Given the description of an element on the screen output the (x, y) to click on. 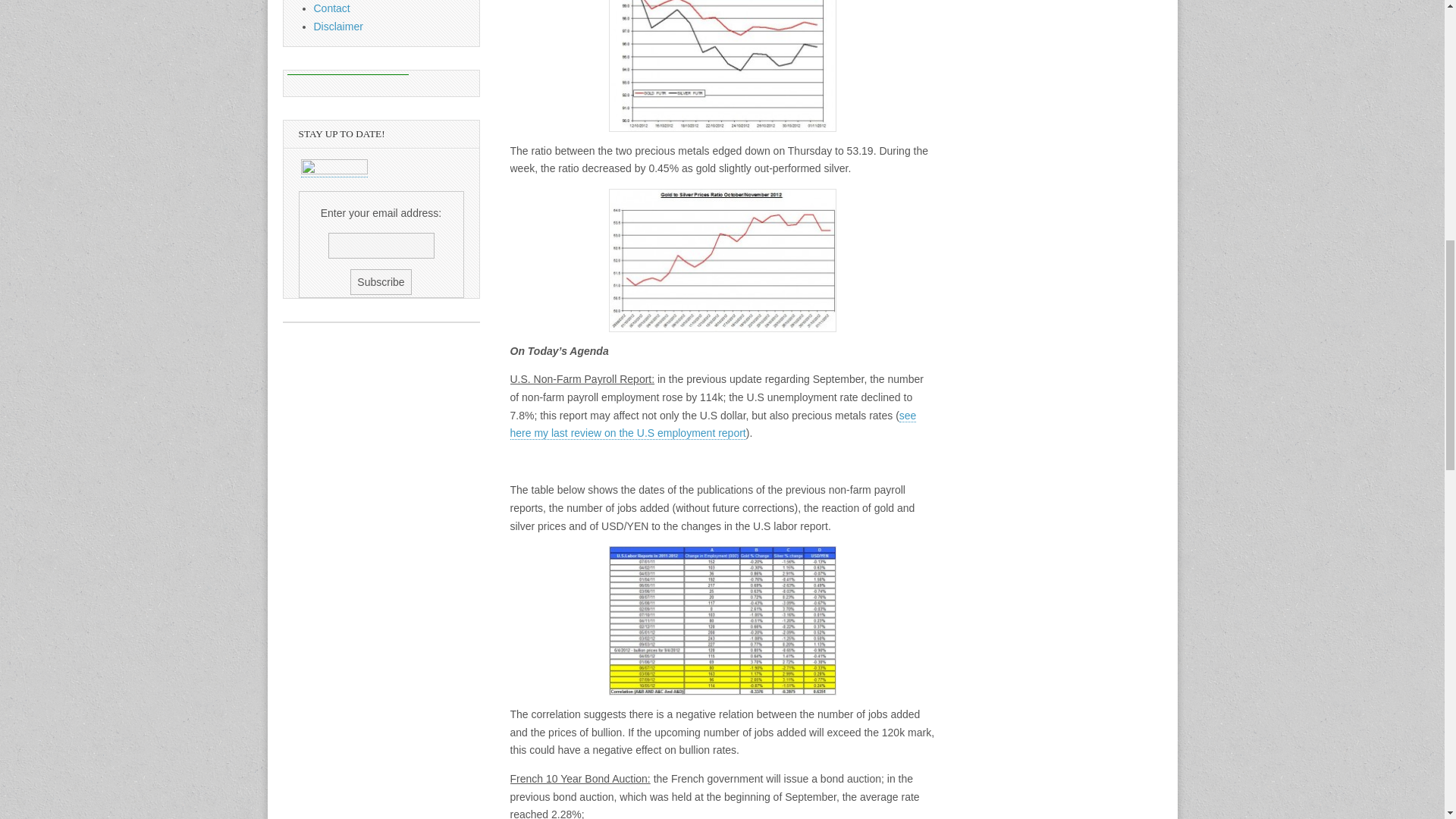
Contact (332, 8)
see here my last review on the U.S employment report (712, 424)
Disclaimer (338, 26)
Subscribe (380, 281)
Subscribe (380, 281)
